Given the description of an element on the screen output the (x, y) to click on. 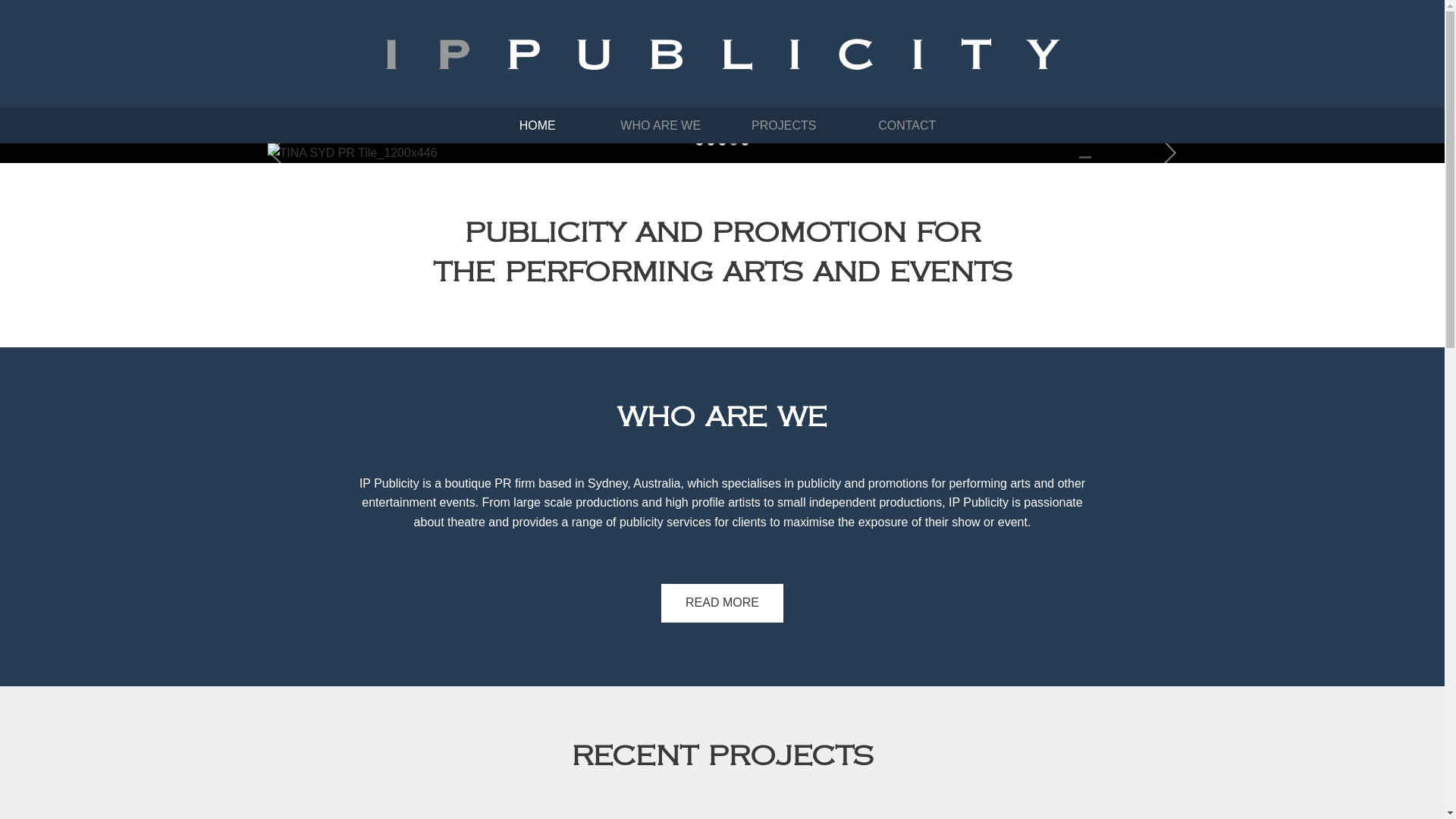
CONTACT Element type: text (906, 125)
READ MORE Element type: text (722, 602)
WHO ARE WE Element type: text (660, 125)
PROJECTS Element type: text (783, 125)
HOME Element type: text (537, 125)
